Given the description of an element on the screen output the (x, y) to click on. 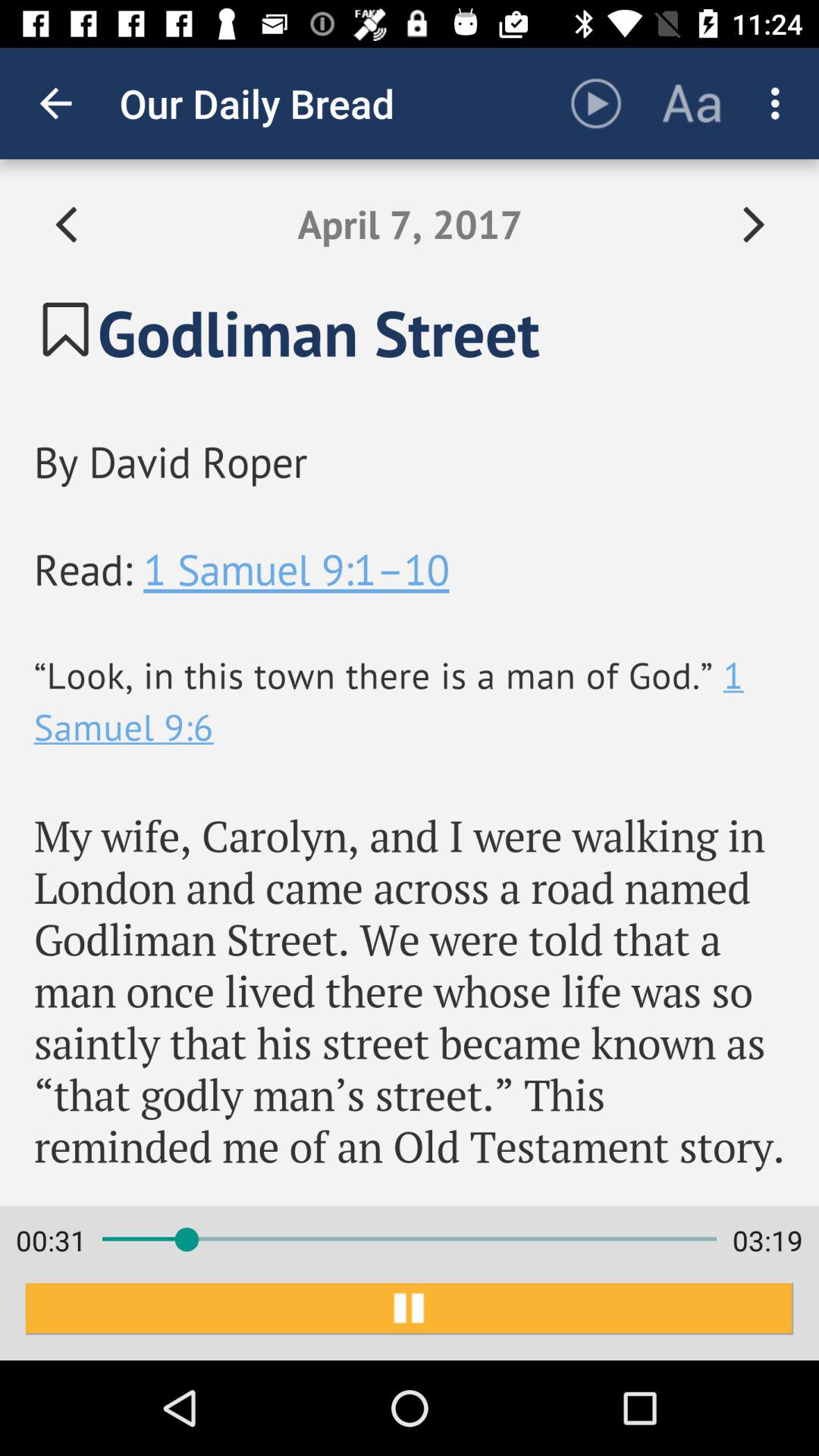
choose item at the center (409, 682)
